Given the description of an element on the screen output the (x, y) to click on. 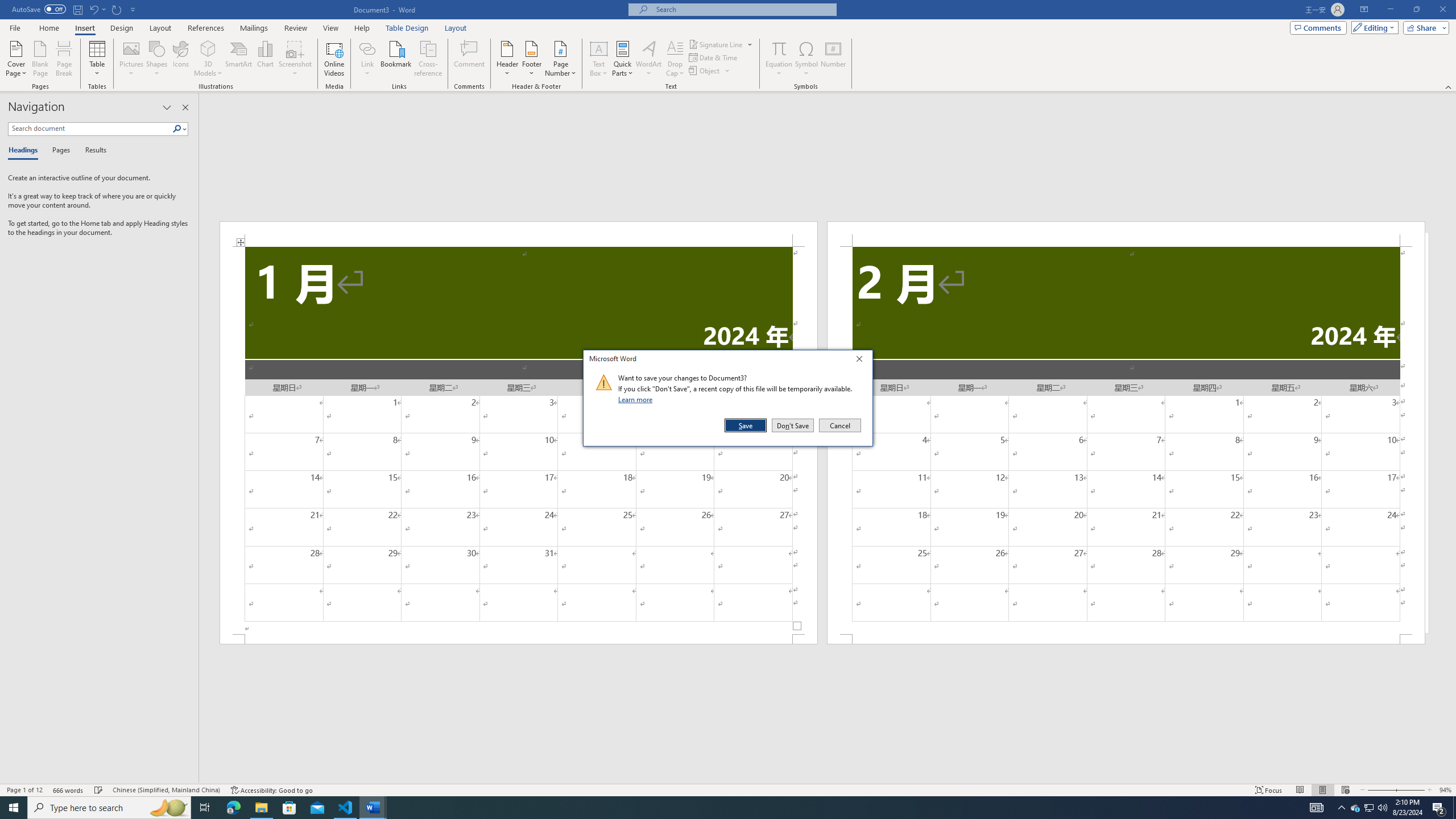
Pictures (131, 58)
Screenshot (295, 58)
